Given the description of an element on the screen output the (x, y) to click on. 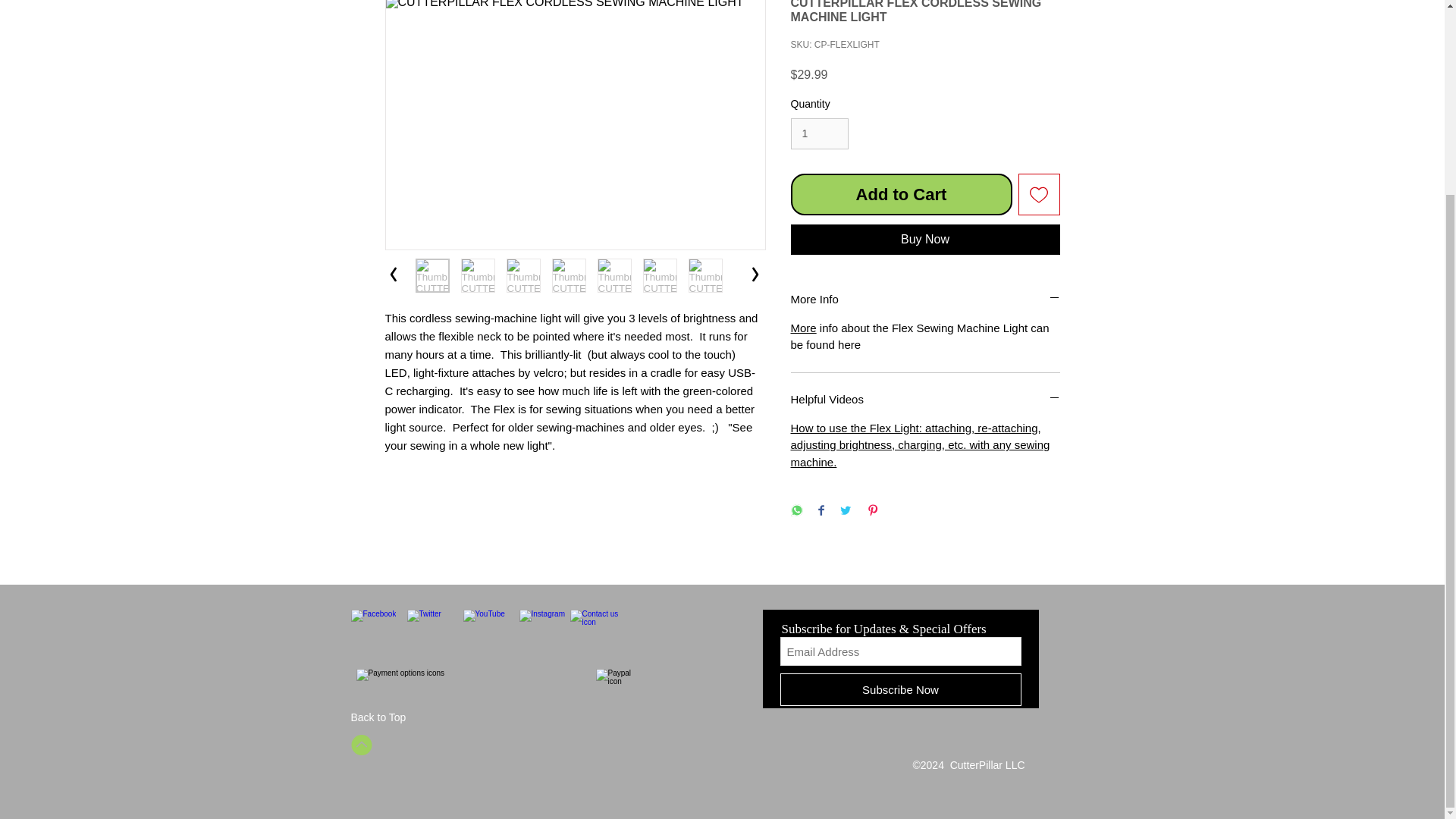
Helpful Videos (924, 399)
More (802, 327)
Add to Cart (900, 194)
More Info (924, 299)
Buy Now (924, 239)
1 (818, 133)
credit cards.jpg (472, 687)
